Given the description of an element on the screen output the (x, y) to click on. 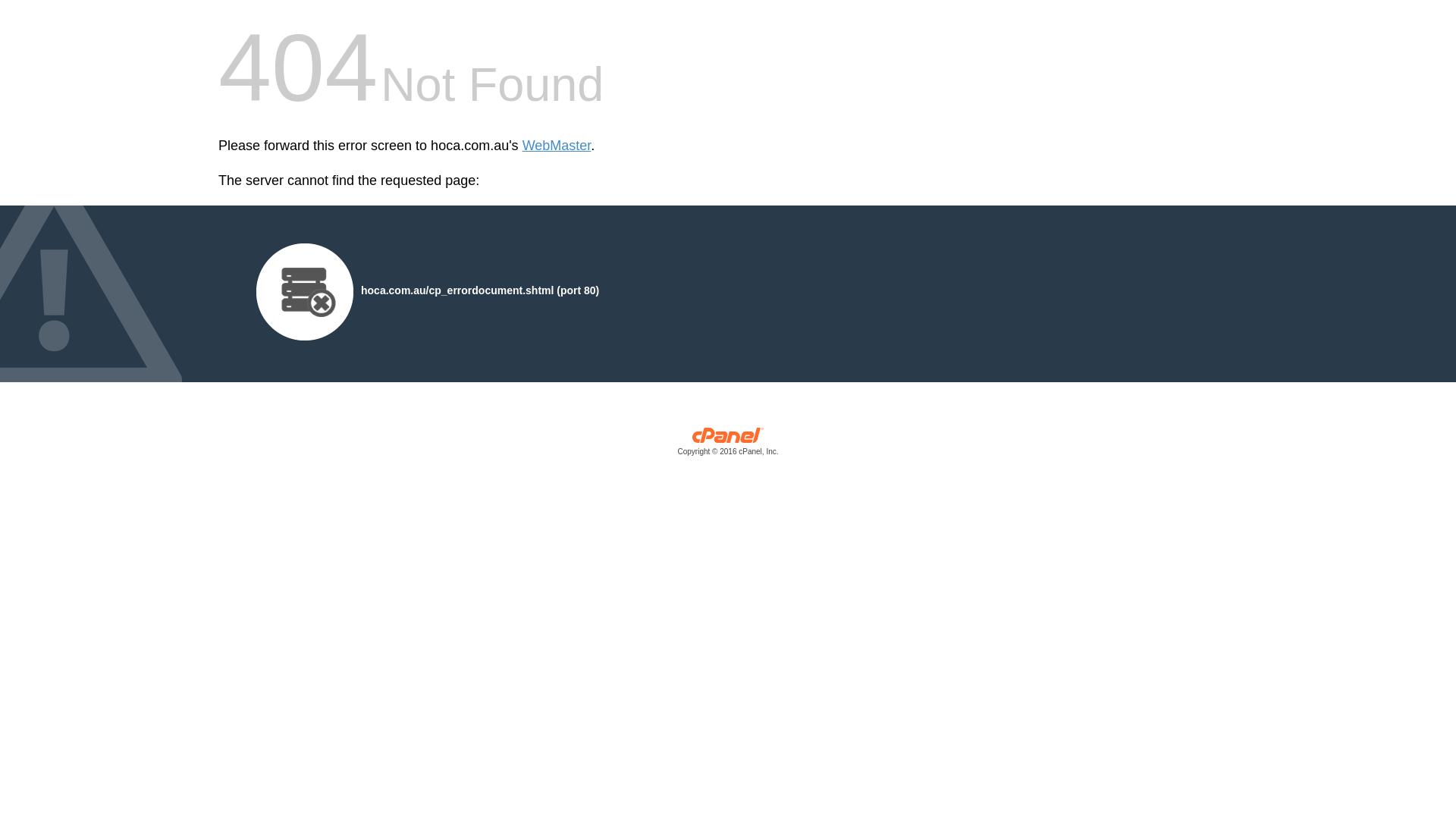
WebMaster Element type: text (556, 145)
